Given the description of an element on the screen output the (x, y) to click on. 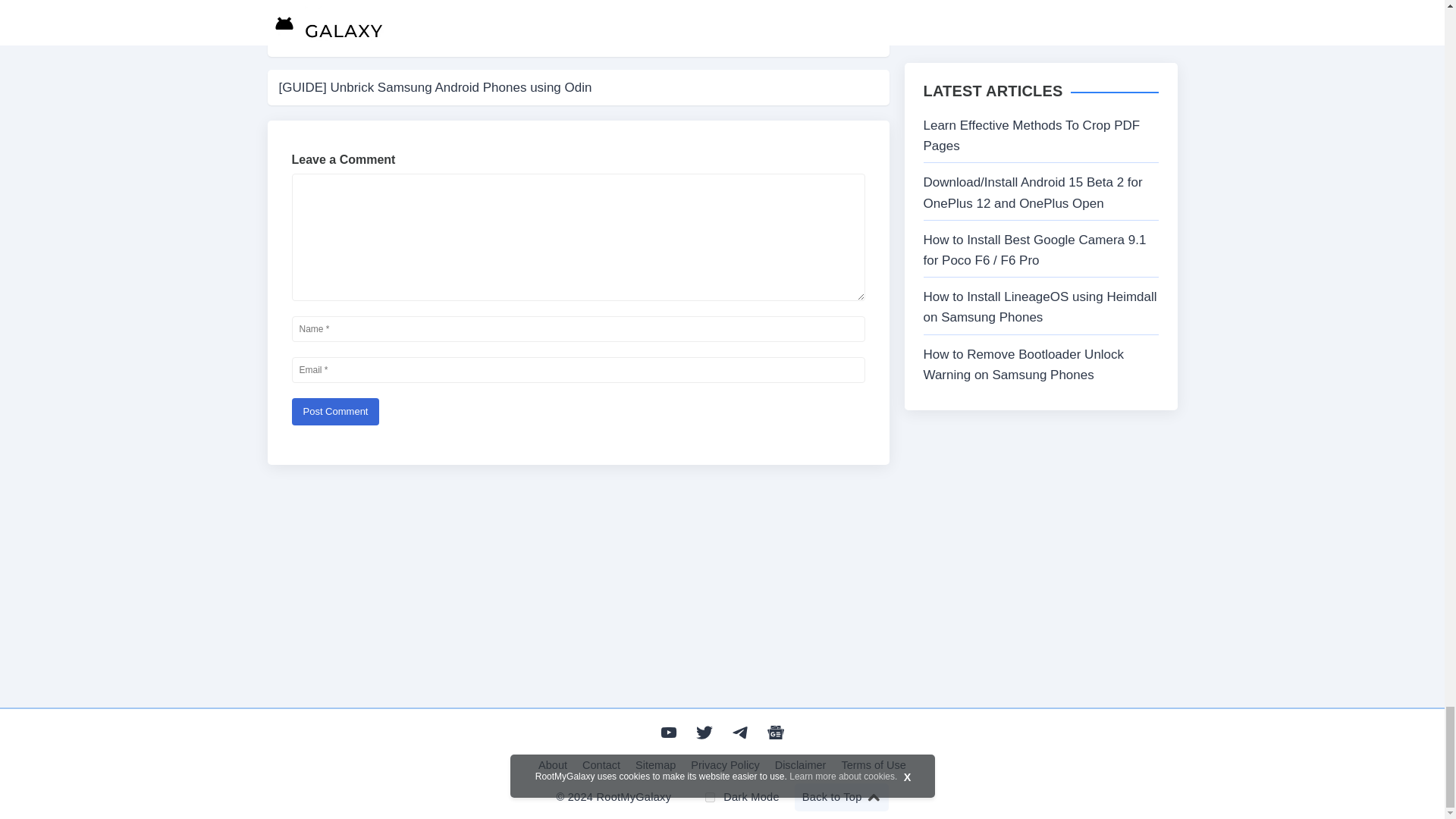
Post Comment (334, 411)
on (709, 797)
